Given the description of an element on the screen output the (x, y) to click on. 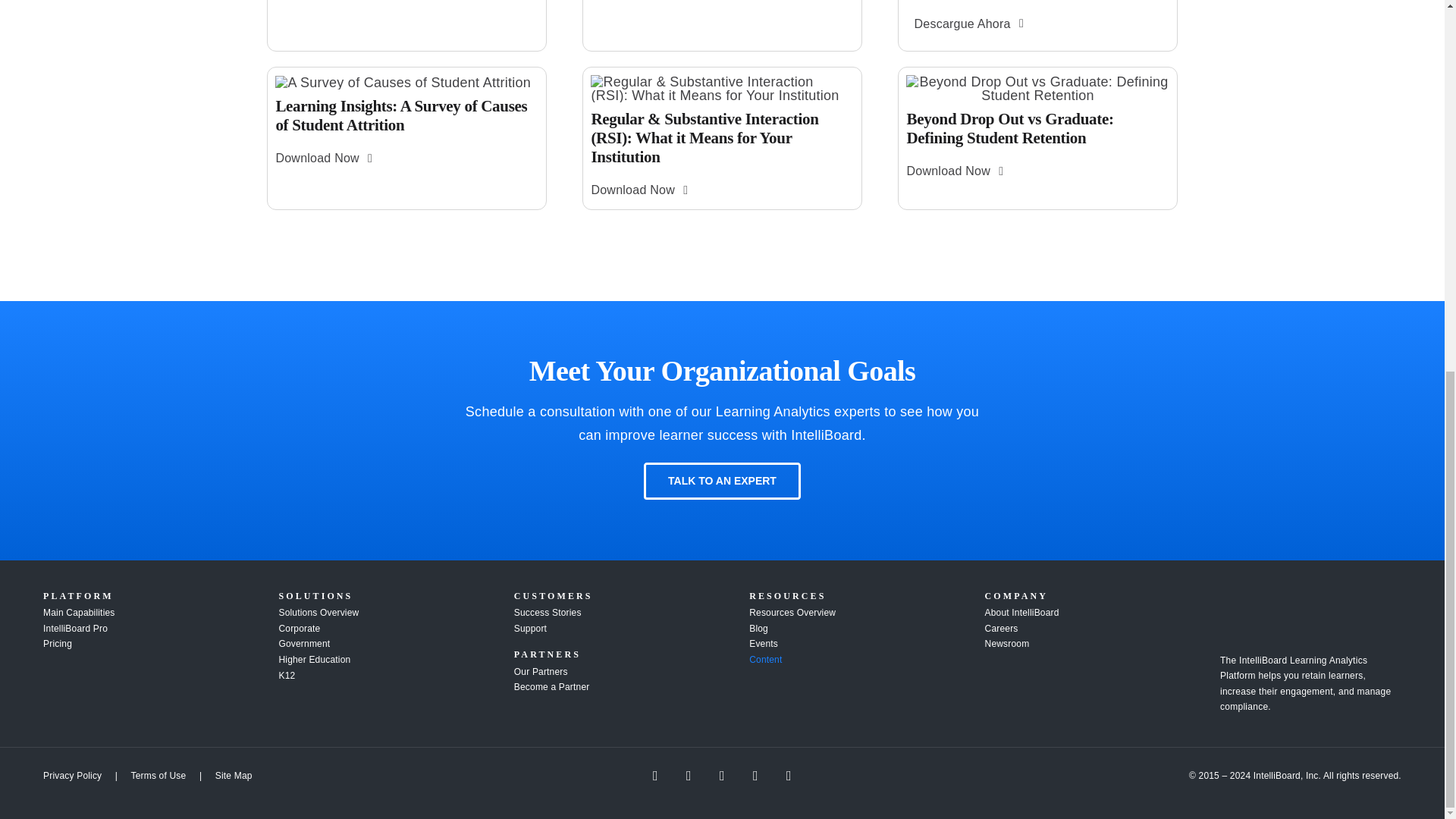
Beyond Drop Out vs Graduate: Defining Student Retention (1037, 88)
A Survey of Causes of Student Attrition (403, 82)
Download Now (323, 157)
X (688, 775)
Intelliboard (1310, 616)
Download Now (954, 170)
Instagram (755, 775)
Vimeo (789, 775)
TALK TO AN EXPERT (721, 480)
Facebook (655, 775)
